Given the description of an element on the screen output the (x, y) to click on. 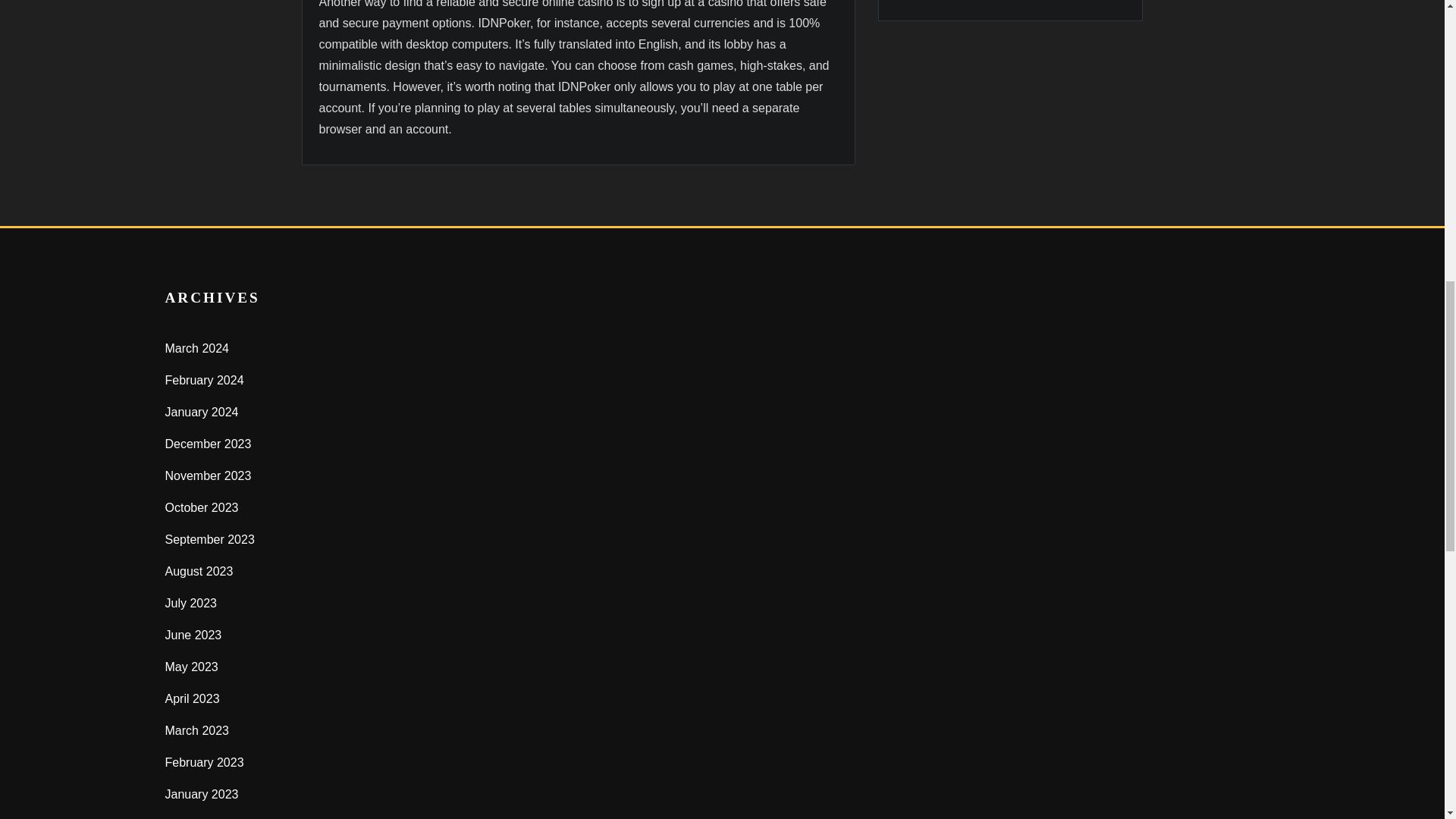
May 2023 (191, 666)
April 2023 (192, 698)
October 2023 (201, 507)
February 2023 (204, 762)
January 2024 (201, 411)
June 2023 (193, 634)
September 2023 (209, 539)
August 2023 (198, 571)
December 2023 (208, 443)
March 2024 (197, 348)
February 2024 (204, 379)
November 2023 (208, 475)
July 2023 (190, 603)
January 2023 (201, 793)
March 2023 (197, 730)
